Given the description of an element on the screen output the (x, y) to click on. 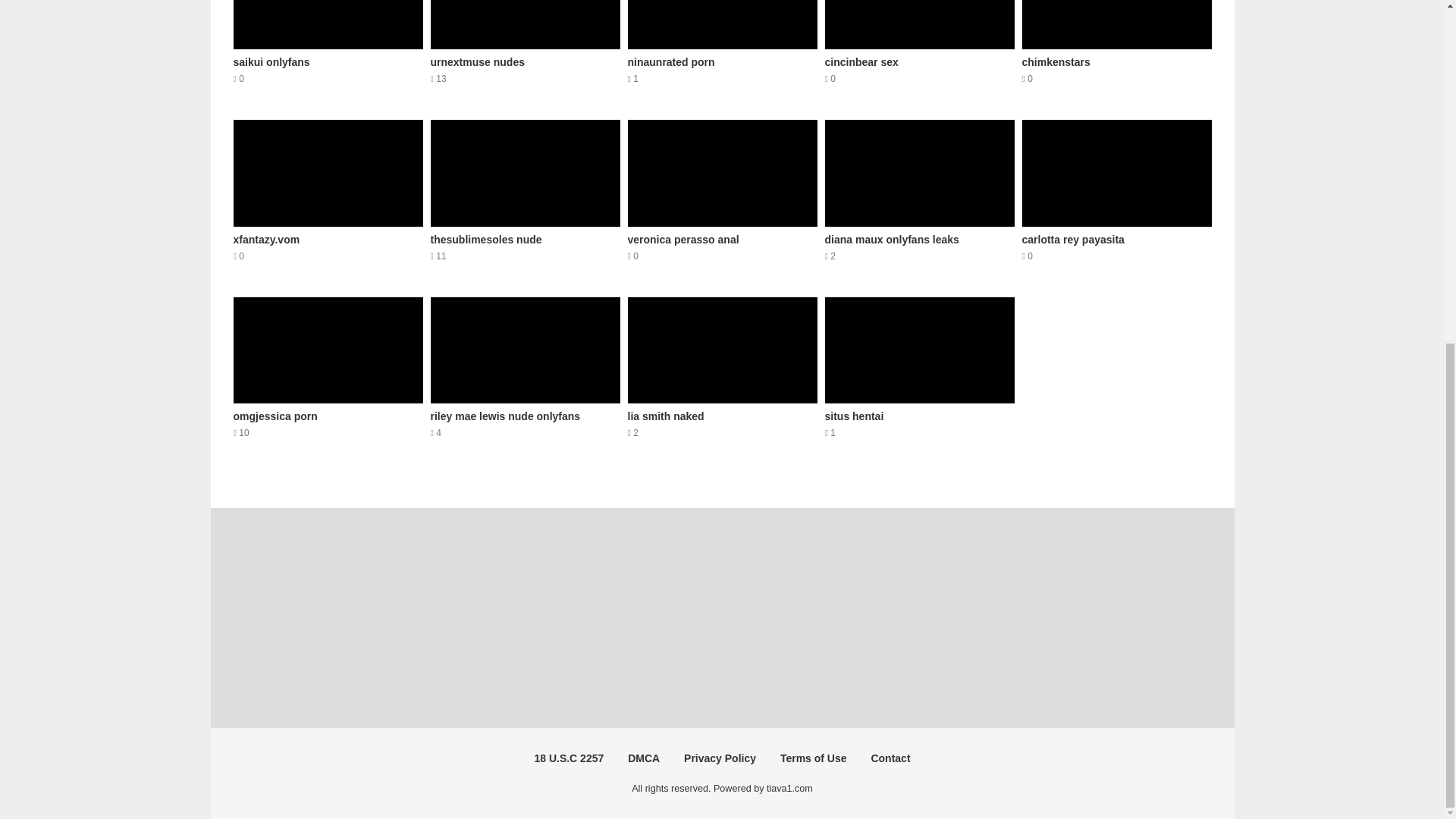
cincinbear sex (525, 199)
DMCA (919, 51)
urnextmuse nudes (327, 377)
thesublimesoles nude (919, 51)
saikui onlyfans (919, 199)
ninaunrated porn (643, 758)
